Given the description of an element on the screen output the (x, y) to click on. 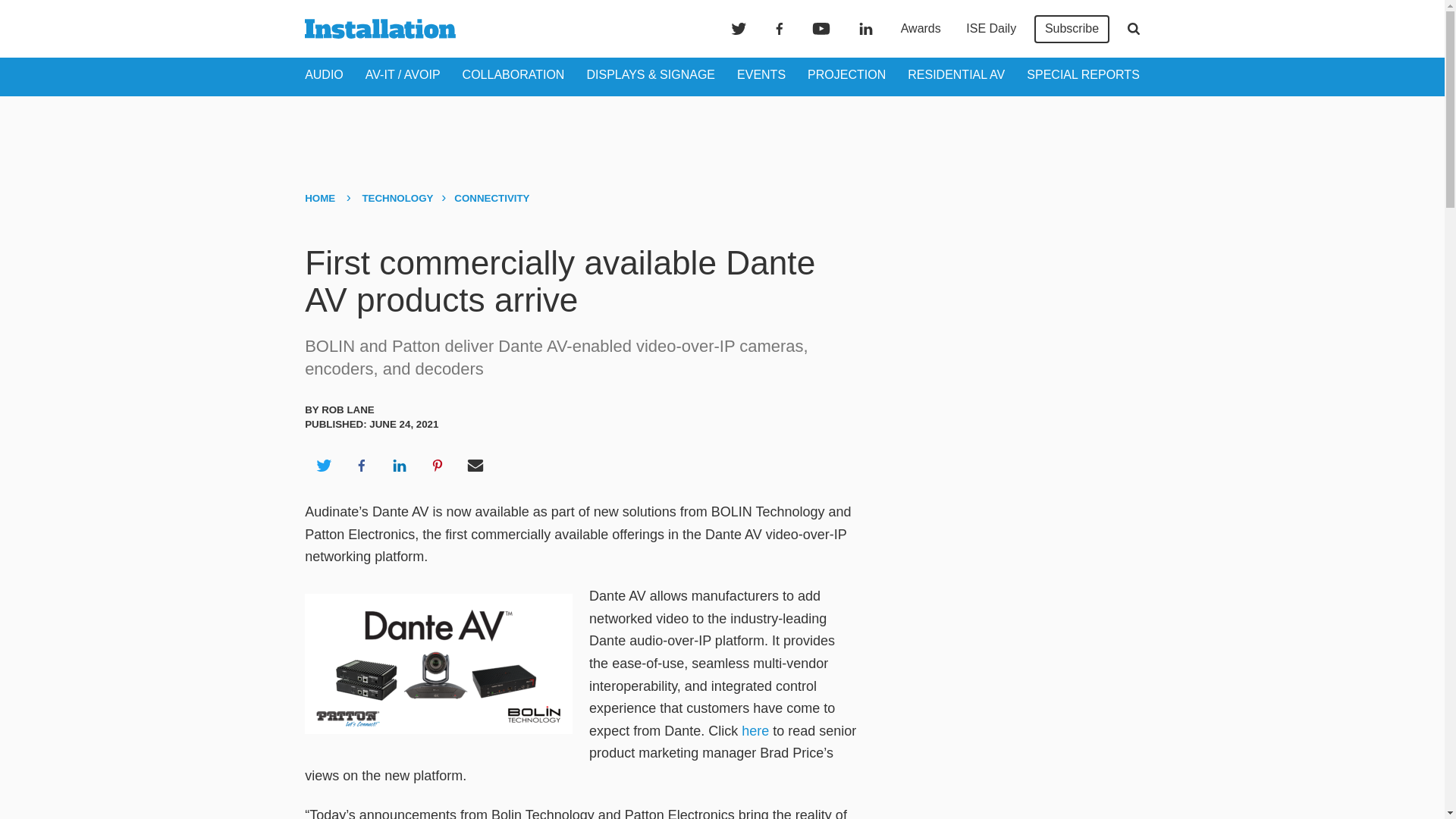
Share on LinkedIn (399, 465)
COLLABORATION (513, 74)
Share via Email (476, 465)
Share on Twitter (323, 465)
Share on Facebook (361, 465)
AUDIO (323, 74)
Rob Lane's Author Profile (347, 409)
ISE Daily (990, 29)
Awards (921, 29)
Share on Pinterest (438, 465)
